Given the description of an element on the screen output the (x, y) to click on. 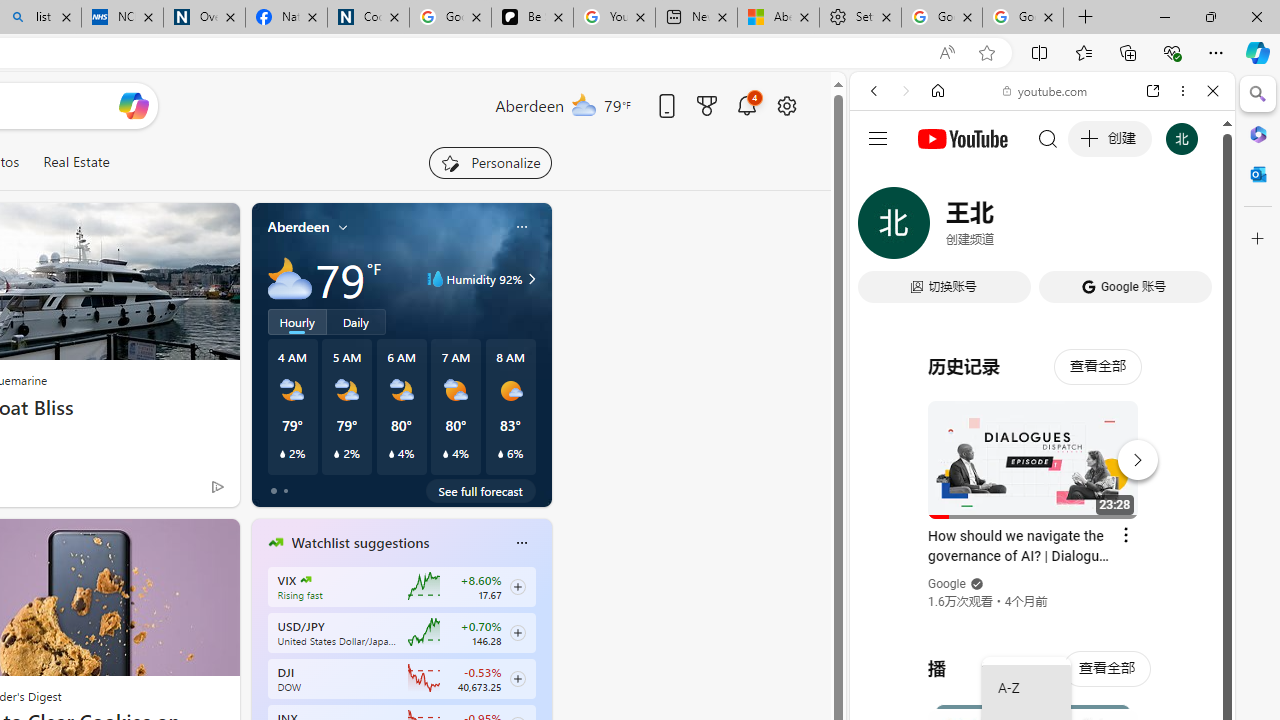
Be Smart | creating Science videos | Patreon (532, 17)
previous (261, 670)
Mostly cloudy (289, 278)
Google (947, 584)
Trailer #2 [HD] (1042, 592)
